Given the description of an element on the screen output the (x, y) to click on. 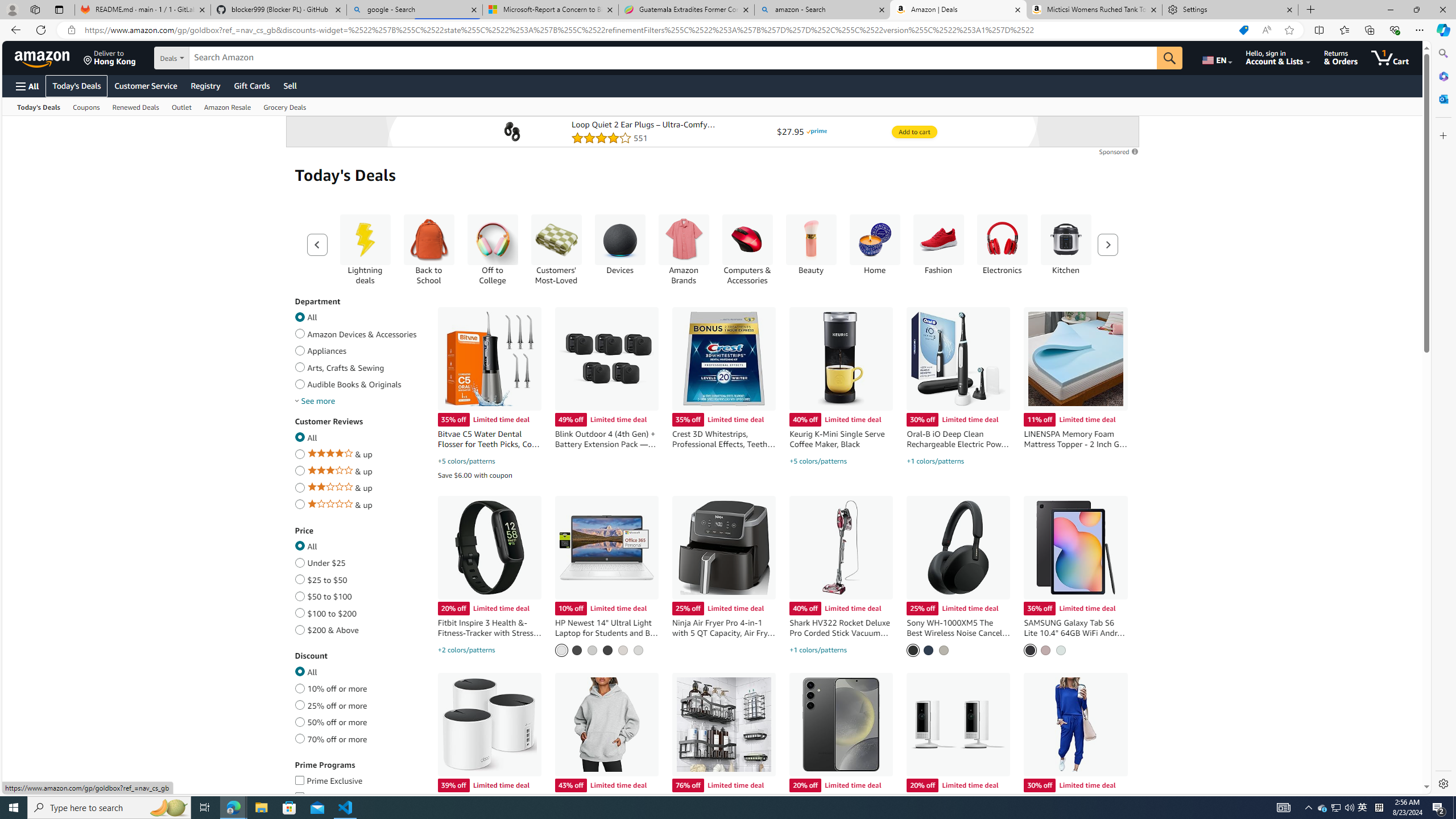
$25 to $50 (299, 577)
25% off or more (299, 703)
Audible Books & Originals (299, 381)
70% off or more (299, 737)
Lightning deals Lightning deals (364, 249)
Computers & Accessories Computers & Accessories (747, 249)
+2 colors/patterns (465, 650)
Customers' Most-Loved Customers' Most-Loved (555, 249)
Back to School Back to School (428, 249)
